Given the description of an element on the screen output the (x, y) to click on. 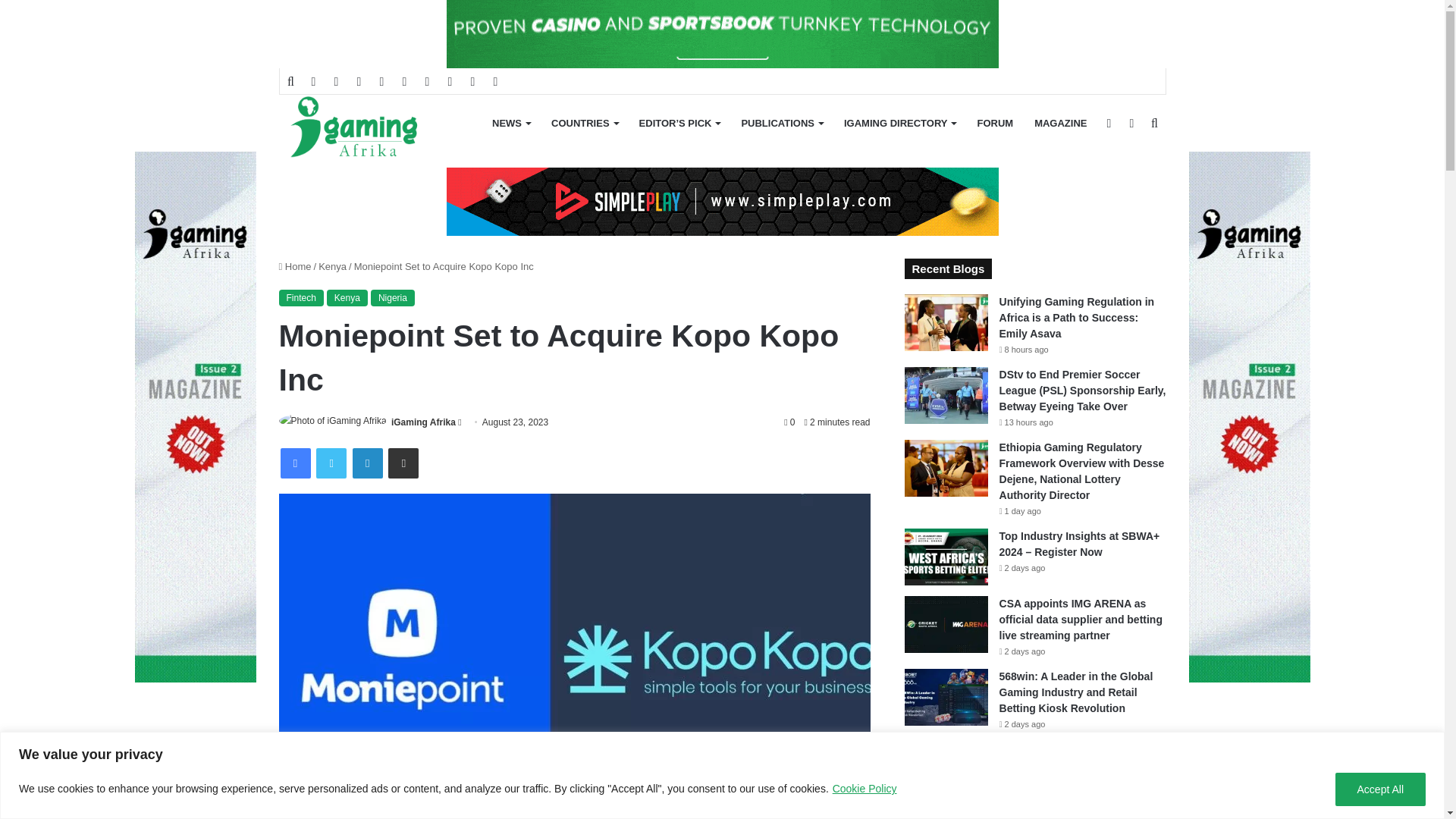
NEWS (510, 123)
Share via Email (403, 462)
Cookie Policy (864, 788)
Facebook (296, 462)
Accept All (1380, 788)
iGamingAfrika Logo (354, 128)
LinkedIn (367, 462)
iGaming Afrika (423, 421)
Twitter (330, 462)
